Given the description of an element on the screen output the (x, y) to click on. 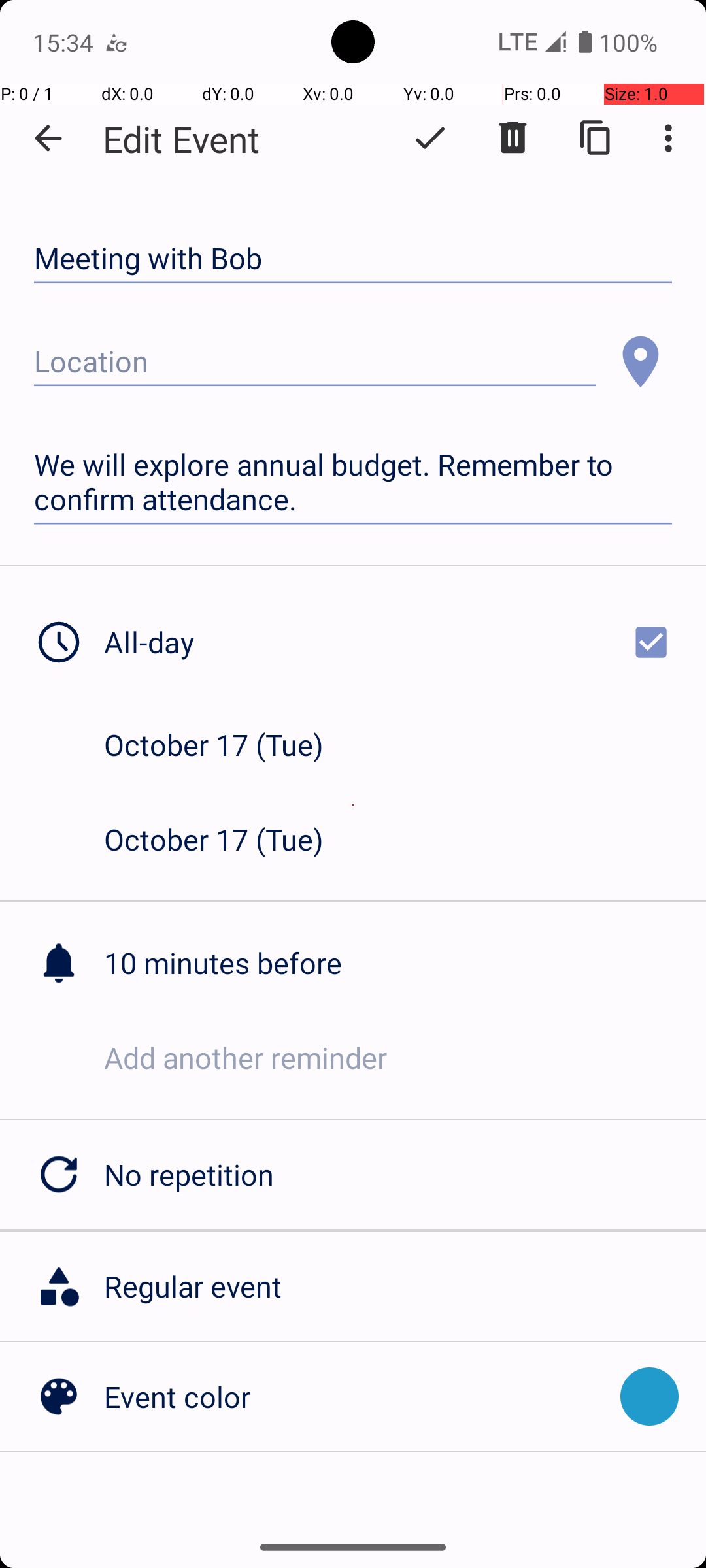
Meeting with Bob Element type: android.widget.EditText (352, 258)
We will explore annual budget. Remember to confirm attendance. Element type: android.widget.EditText (352, 482)
October 17 (Tue) Element type: android.widget.TextView (227, 744)
10 minutes before Element type: android.widget.TextView (404, 962)
Add another reminder Element type: android.widget.TextView (404, 1057)
